Given the description of an element on the screen output the (x, y) to click on. 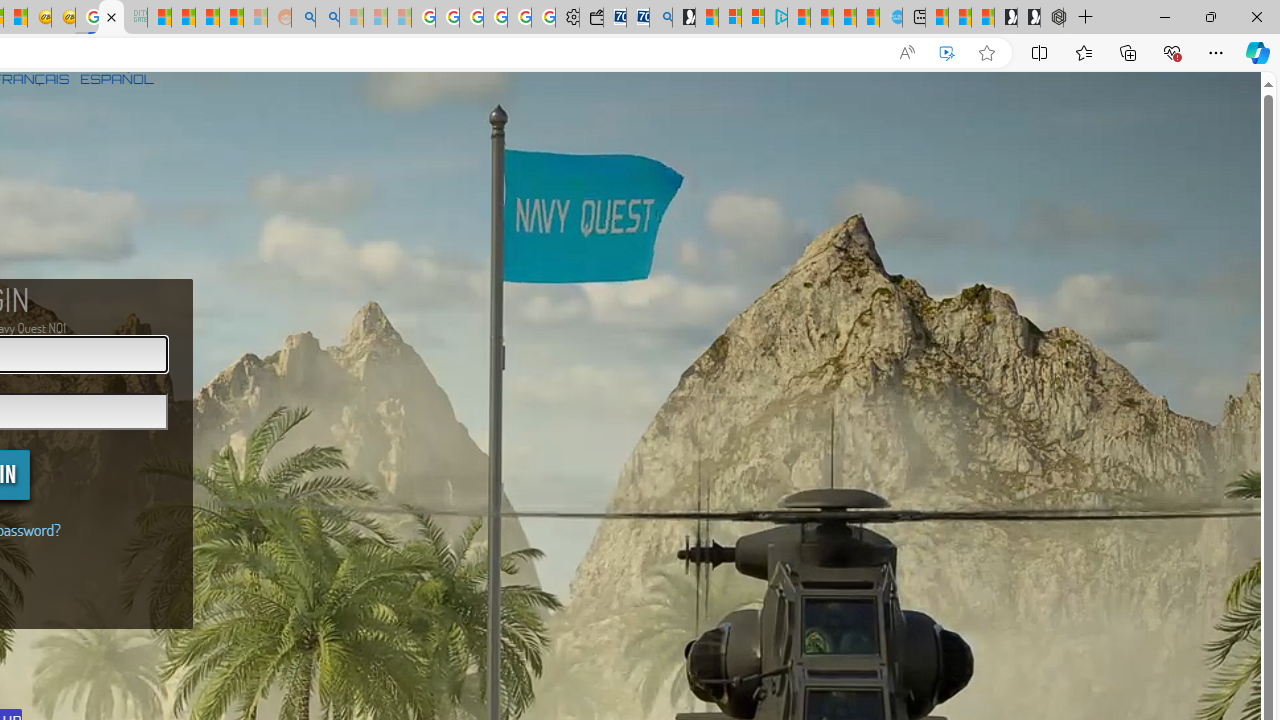
Bing Real Estate - Home sales and rental listings (660, 17)
